Given the description of an element on the screen output the (x, y) to click on. 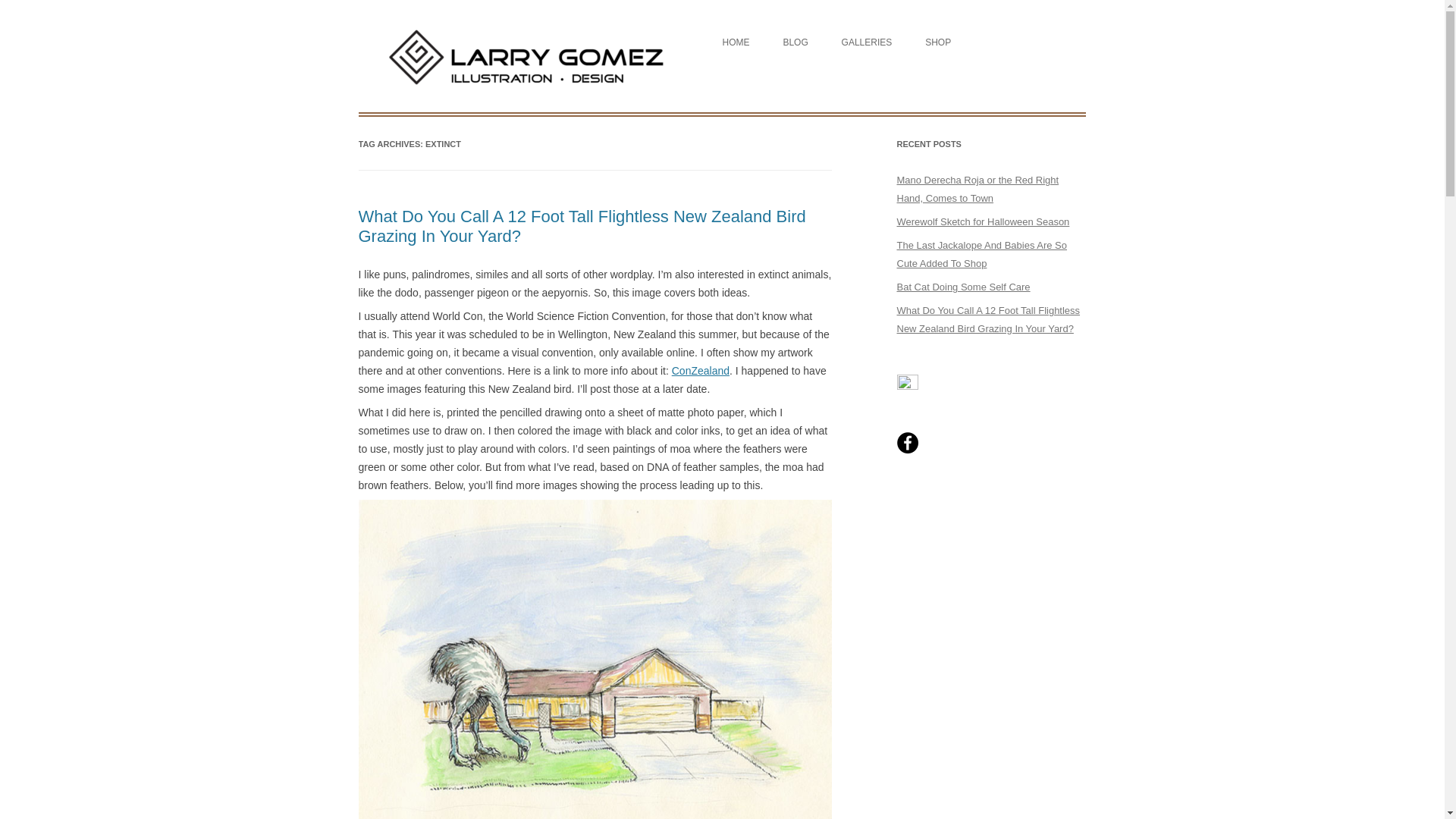
Mano Derecha Roja or the Red Right Hand, Comes to Town (977, 188)
SCIENCE FICTION AND FANTASY (916, 74)
GALLERIES (866, 41)
Bat Cat Doing Some Self Care (962, 286)
The Last Jackalope And Babies Are So Cute Added To Shop (981, 254)
Werewolf Sketch for Halloween Season (982, 221)
Larry Gomez Illustration and Design (526, 25)
Larry Gomez Illustration and Design (526, 25)
